Given the description of an element on the screen output the (x, y) to click on. 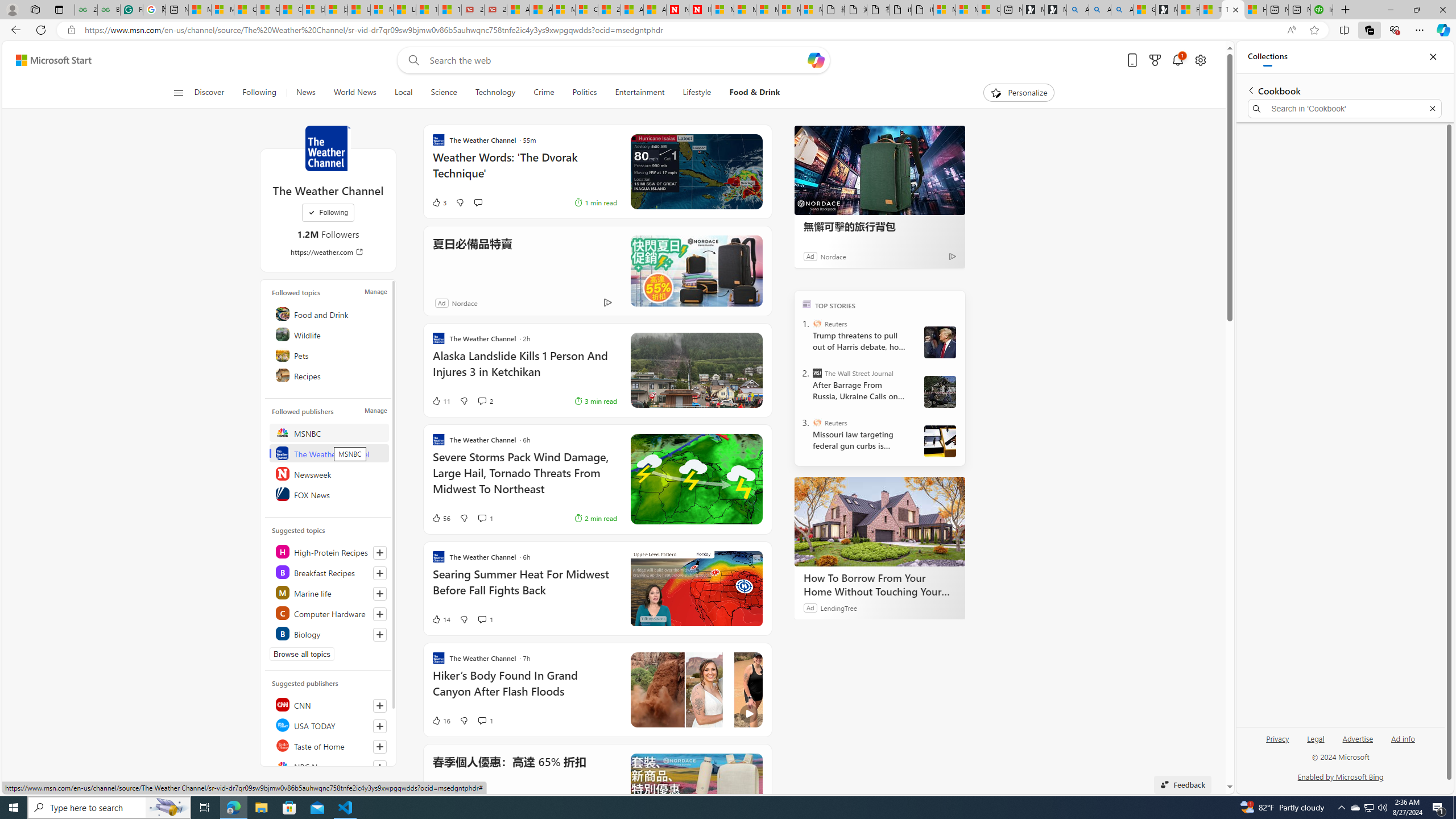
20 Ways to Boost Your Protein Intake at Every Meal (609, 9)
Alaska Landslide Kills 1 Person And Injures 3 in Ketchikan (524, 369)
3 Like (438, 202)
Pets (328, 354)
Illness news & latest pictures from Newsweek.com (700, 9)
